Given the description of an element on the screen output the (x, y) to click on. 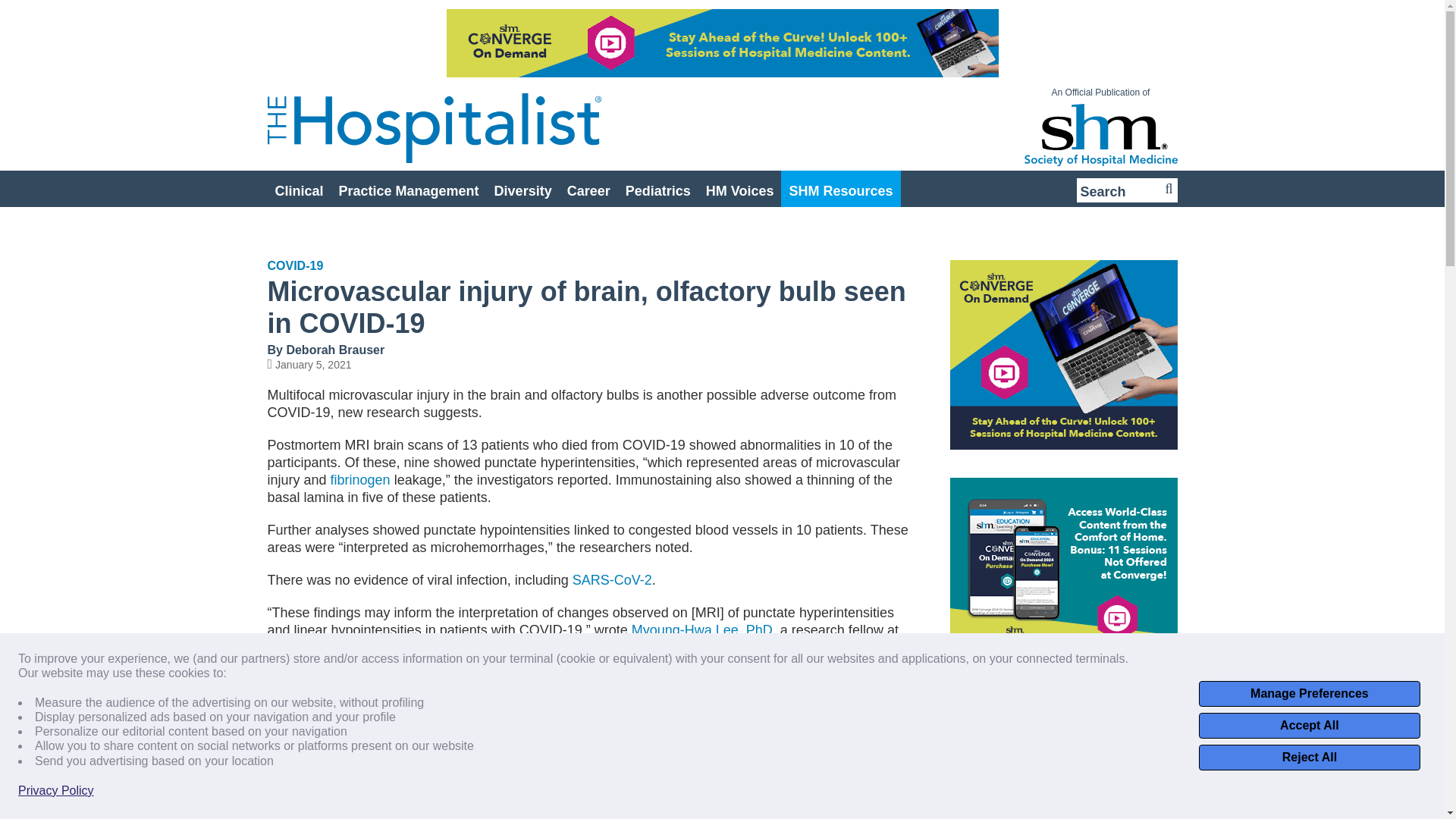
Reject All (1309, 757)
Accept All (1309, 725)
Manage Preferences (1309, 693)
Privacy Policy (55, 789)
